Given the description of an element on the screen output the (x, y) to click on. 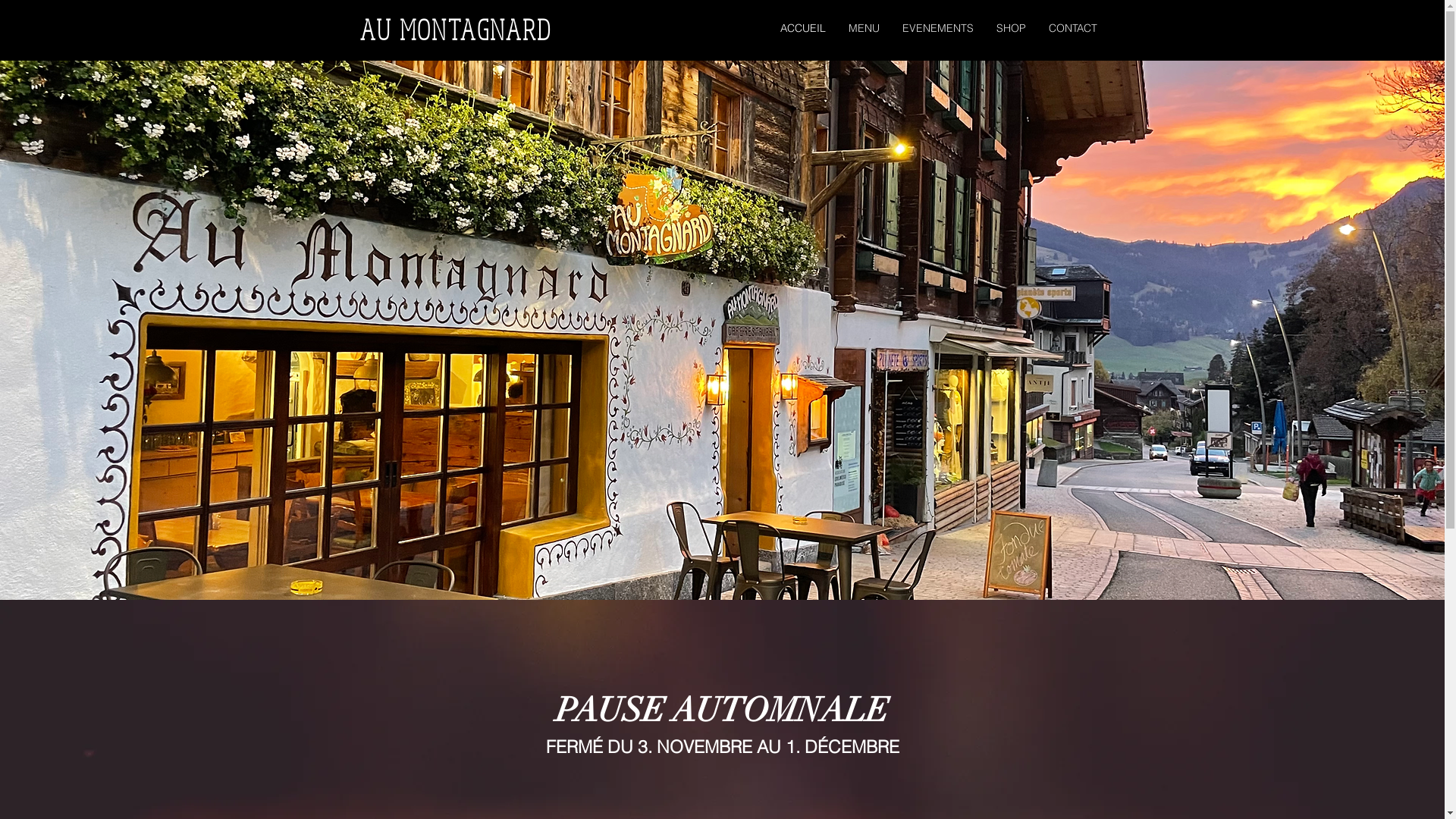
AU MONTAGNARD Element type: text (455, 29)
EVENEMENTS Element type: text (937, 28)
SHOP Element type: text (1010, 28)
MENU Element type: text (864, 28)
ACCUEIL Element type: text (802, 28)
CONTACT Element type: text (1072, 28)
